Given the description of an element on the screen output the (x, y) to click on. 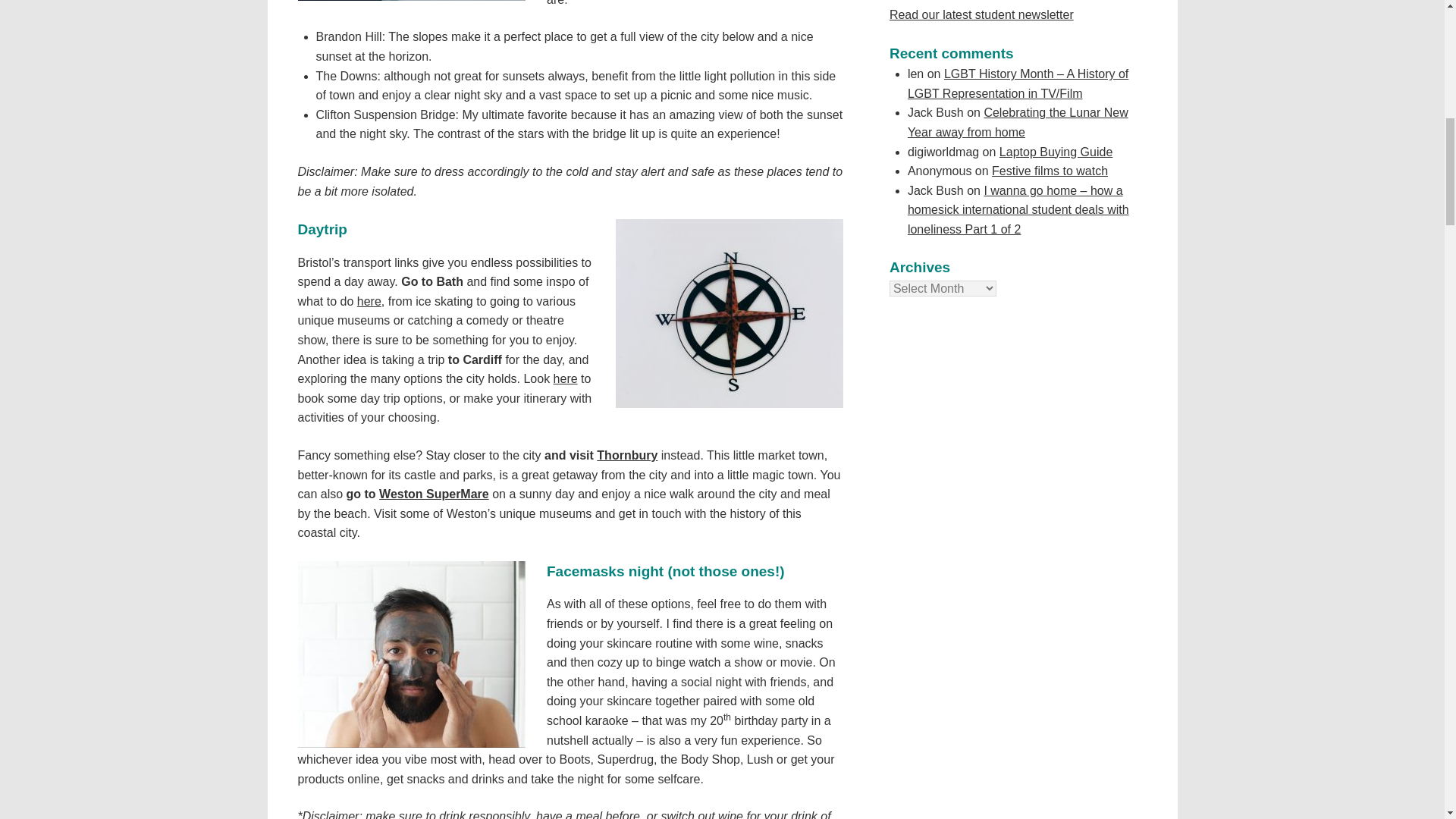
Thornbury (627, 454)
here (565, 378)
Weston SuperMare (433, 493)
here (368, 300)
